Given the description of an element on the screen output the (x, y) to click on. 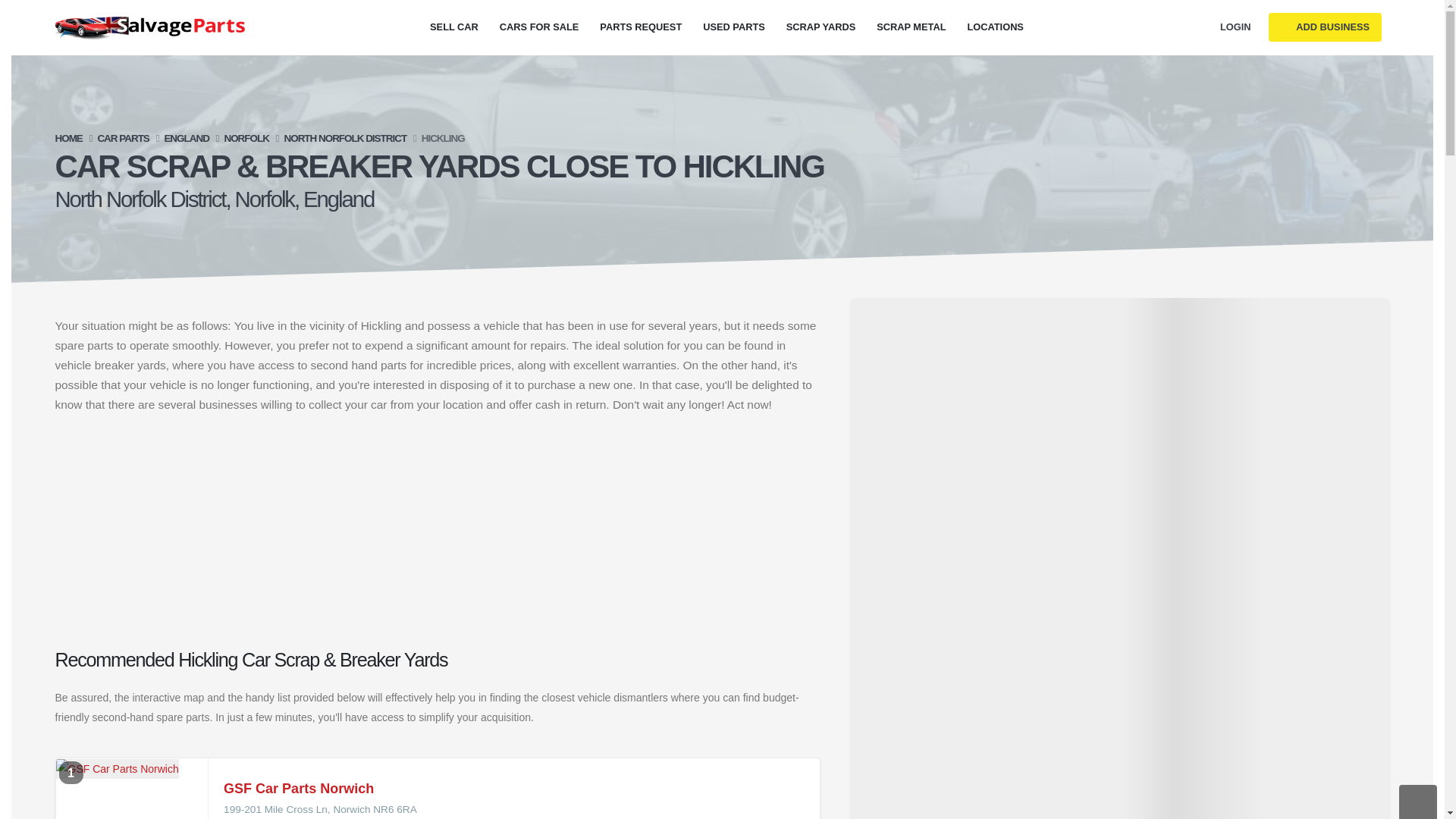
ENGLAND (185, 138)
HOME (68, 138)
CARS FOR SALE (539, 27)
ADD BUSINESS (1324, 27)
SCRAP METAL (911, 27)
PARTS REQUEST (640, 27)
CAR PARTS (122, 138)
LOCATIONS (994, 27)
USED PARTS (734, 27)
SELL CAR (453, 27)
SCRAP YARDS (820, 27)
NORFOLK (245, 138)
LOGIN (1235, 27)
